Given the description of an element on the screen output the (x, y) to click on. 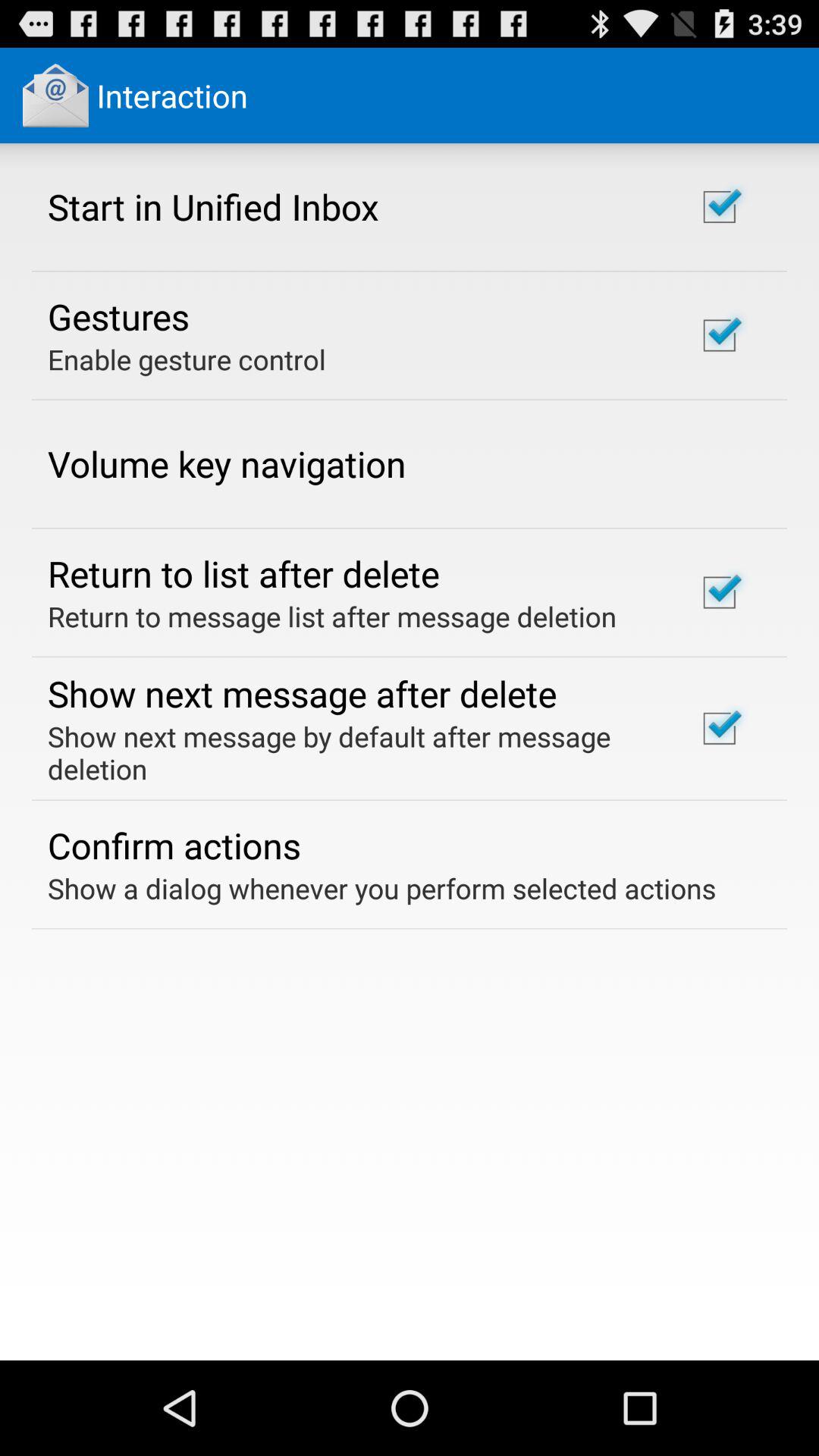
jump until show a dialog item (381, 888)
